Given the description of an element on the screen output the (x, y) to click on. 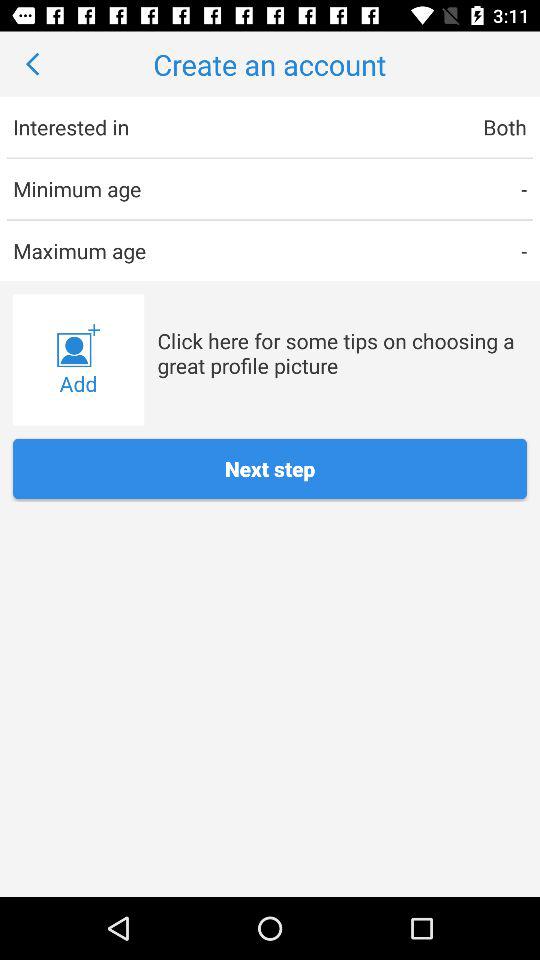
jump until click here for icon (341, 352)
